Given the description of an element on the screen output the (x, y) to click on. 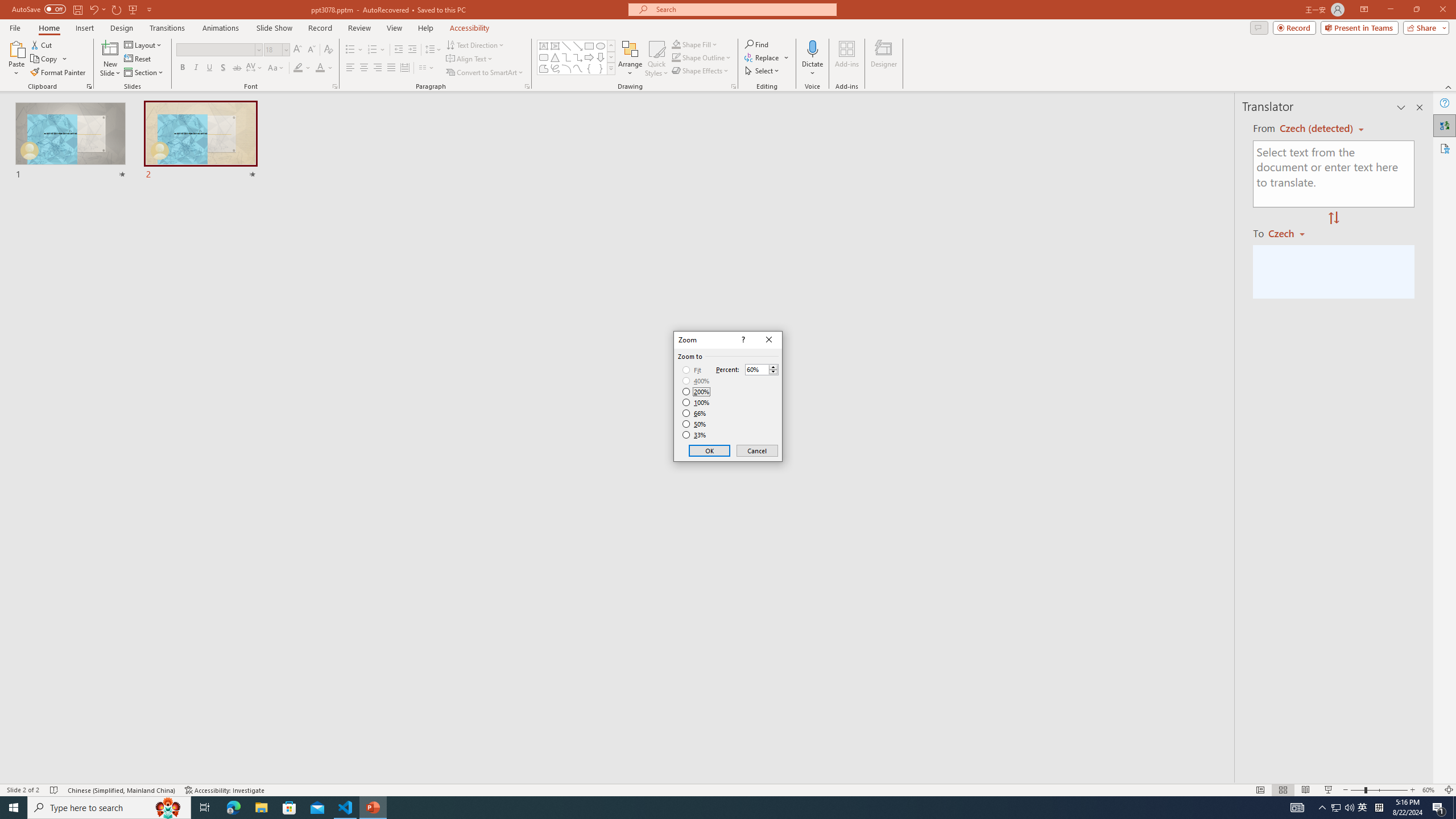
Fit (691, 370)
Swap "from" and "to" languages. (1333, 218)
Percent (756, 369)
